Given the description of an element on the screen output the (x, y) to click on. 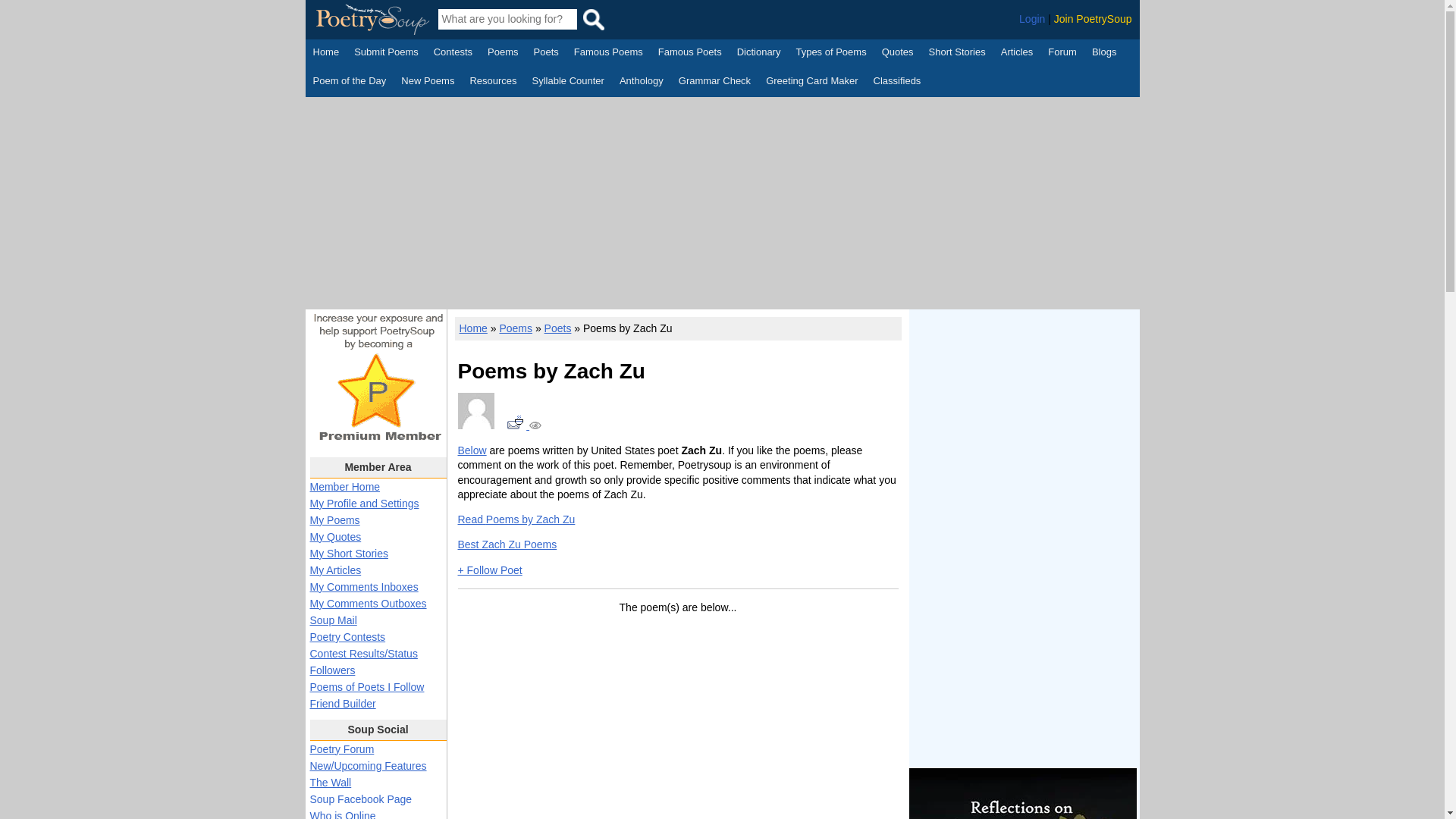
Short Stories (956, 53)
Classifieds (897, 82)
Poems (502, 53)
Member Home (344, 486)
Quotes (898, 53)
Submit Poems (386, 53)
Home (326, 53)
Greeting Card Maker (811, 82)
Articles (1017, 53)
Login (1032, 19)
